Given the description of an element on the screen output the (x, y) to click on. 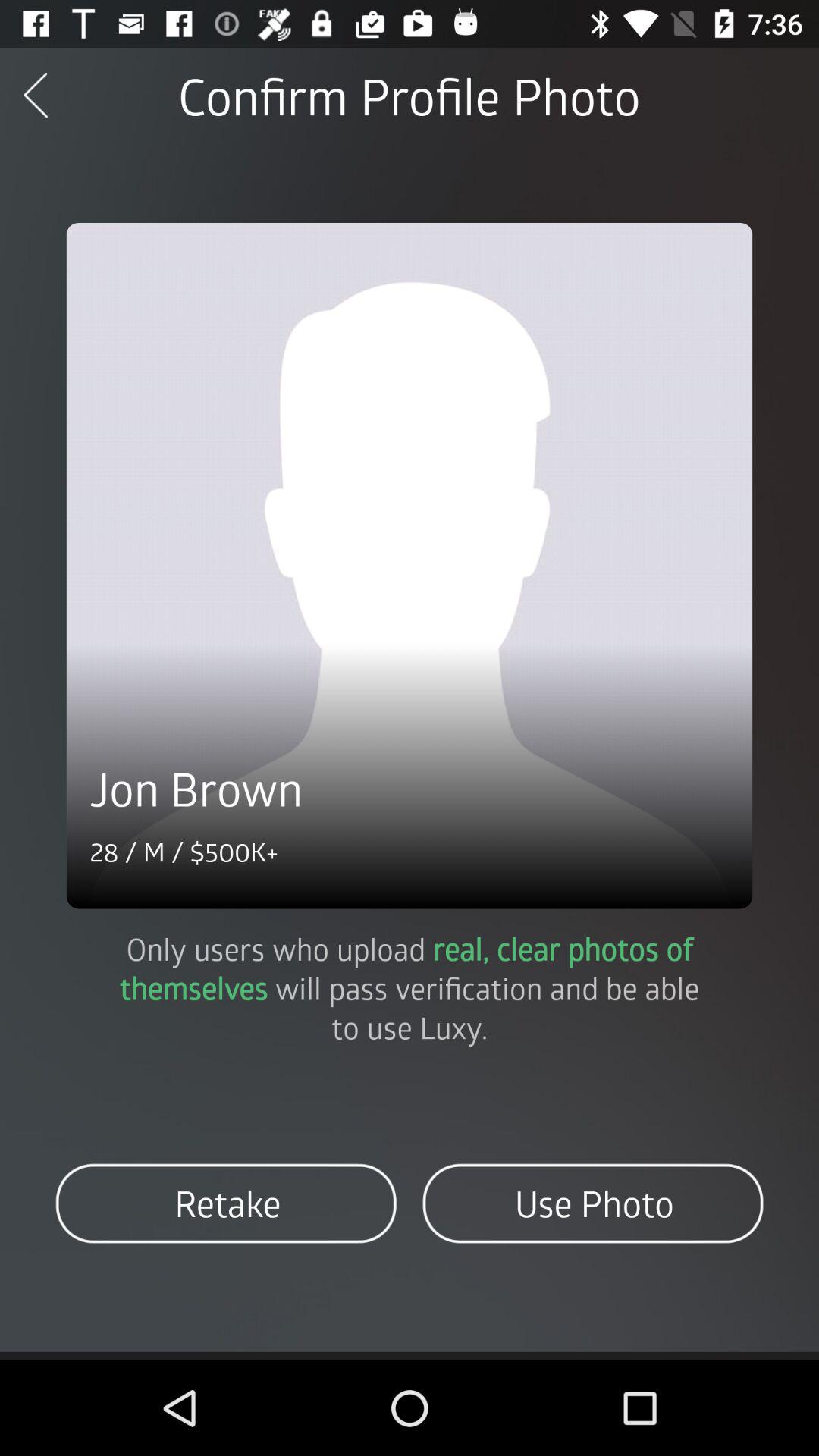
open the icon to the left of the use photo item (225, 1203)
